Given the description of an element on the screen output the (x, y) to click on. 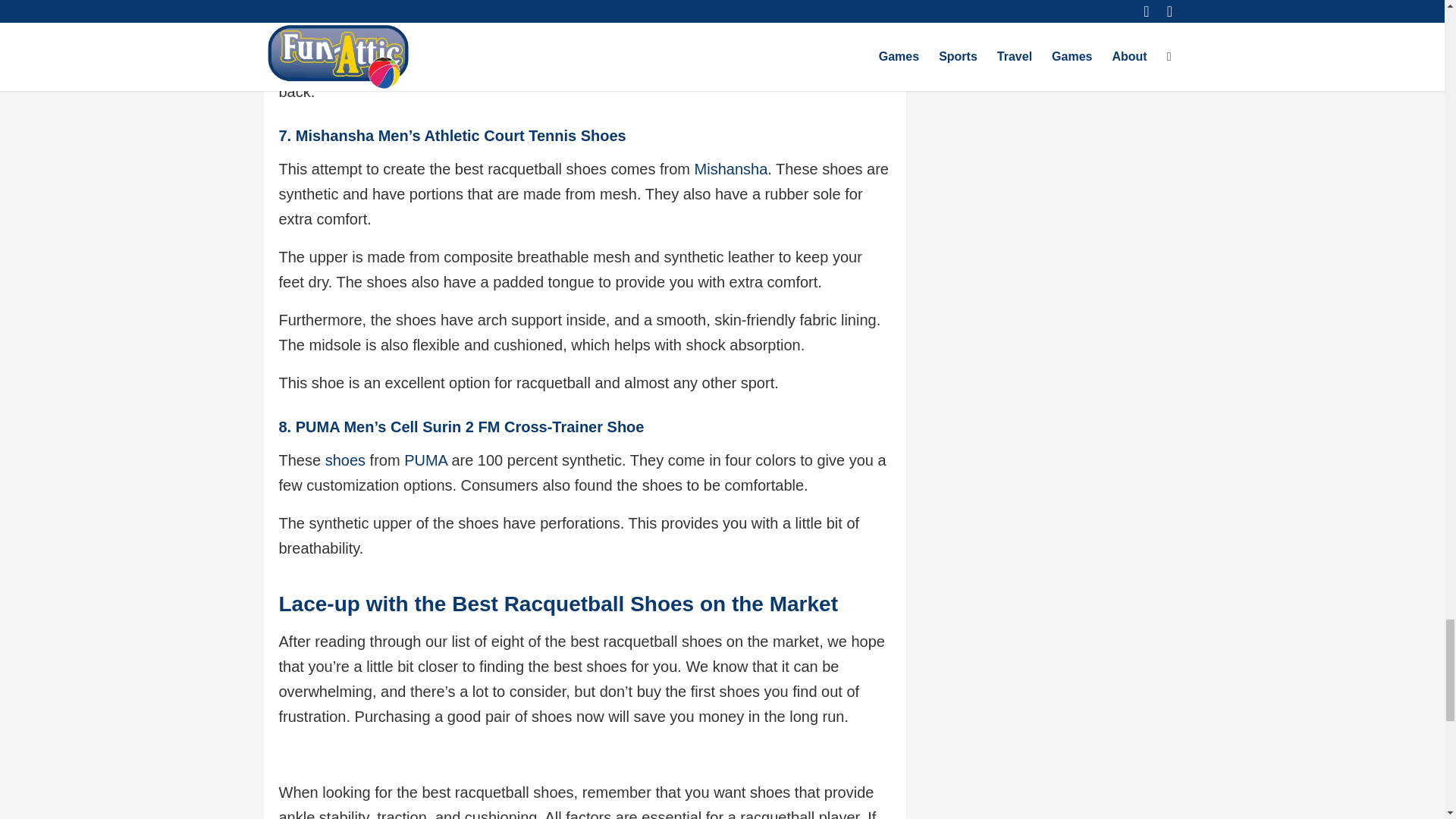
 PUMA (423, 460)
Mishansha (731, 168)
LI-NING (306, 41)
shoes (344, 460)
